Given the description of an element on the screen output the (x, y) to click on. 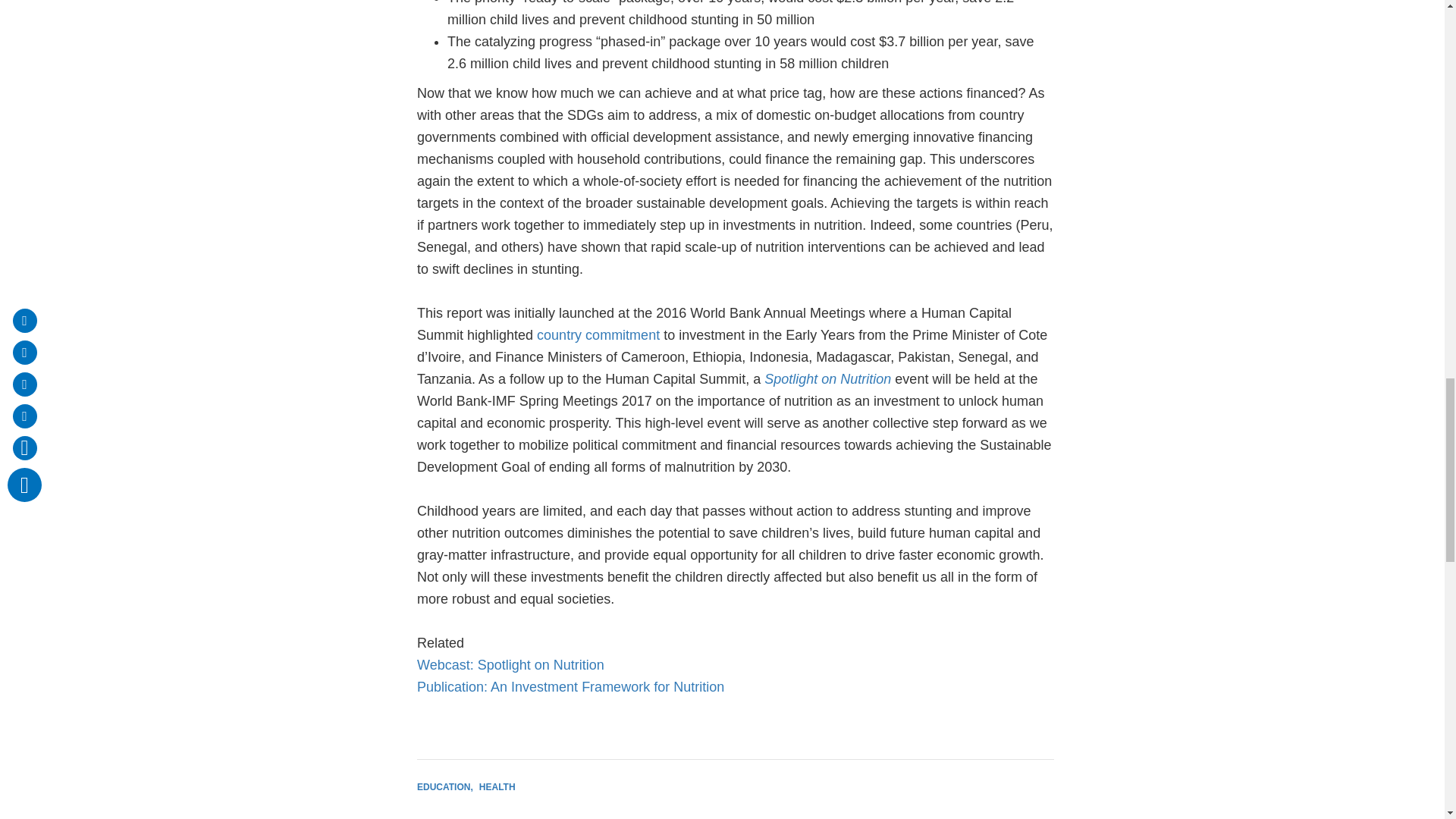
country commitment (598, 335)
Webcast: Spotlight on Nutrition (510, 664)
HEALTH (497, 787)
Spotlight on Nutrition (827, 378)
EDUCATION (444, 787)
Publication: An Investment Framework for Nutrition (569, 686)
